Given the description of an element on the screen output the (x, y) to click on. 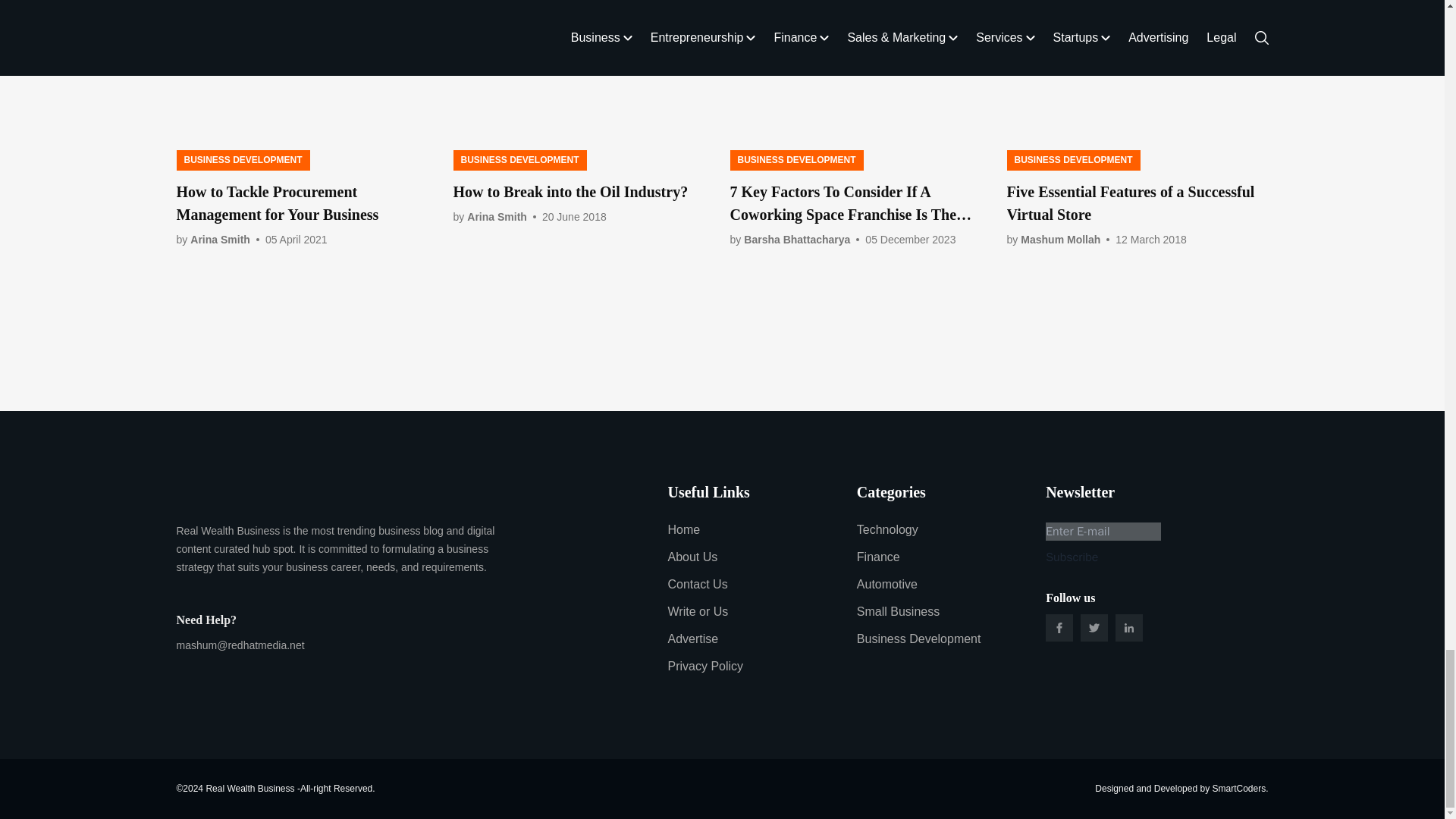
Subscribe (1071, 556)
